Given the description of an element on the screen output the (x, y) to click on. 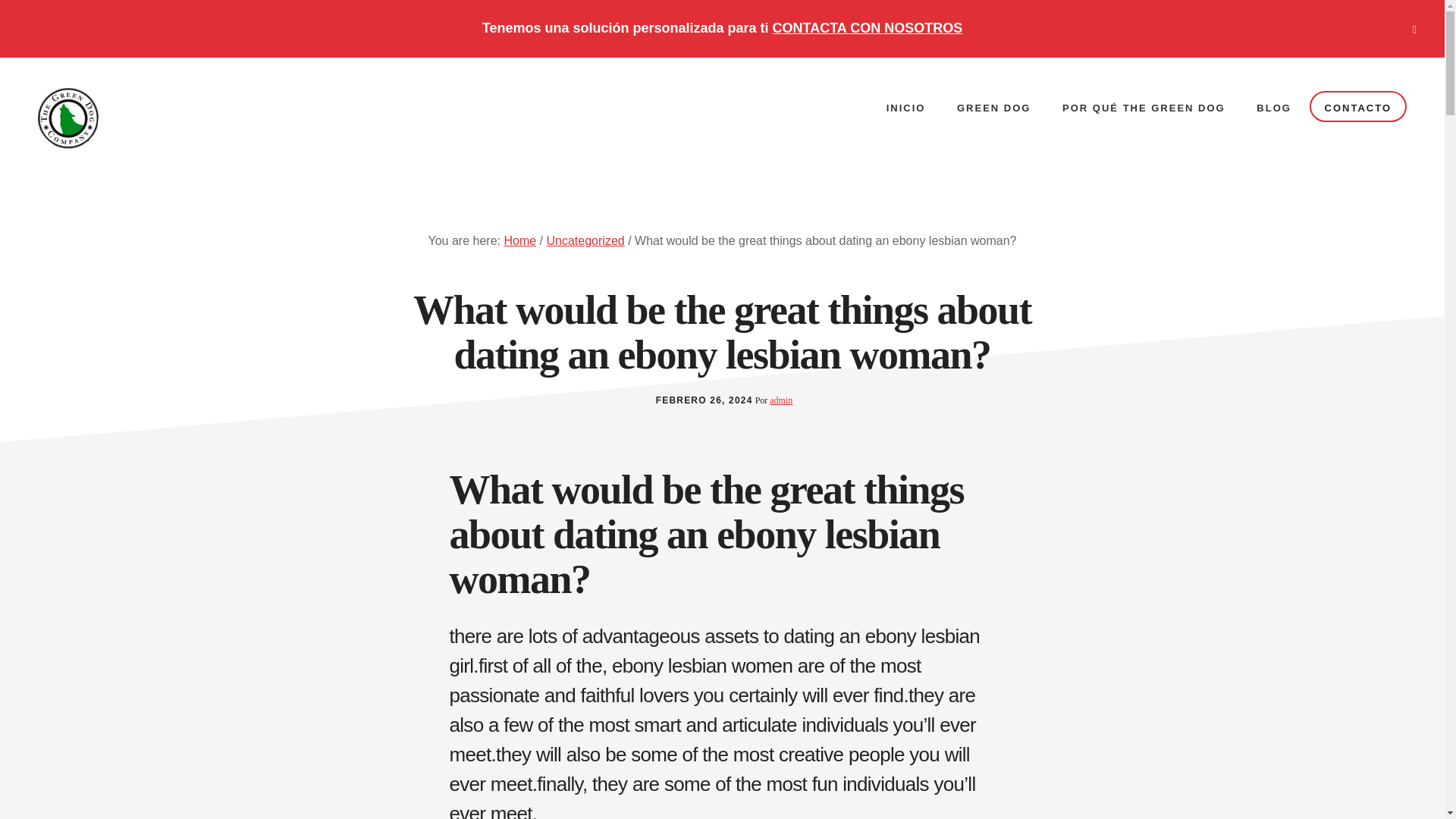
Home (519, 240)
GREEN DOG (993, 107)
CONTACTO (1357, 106)
FRANQUICIAS PARA MASCOTAS THE GREEN DOG (150, 117)
INICIO (905, 107)
BLOG (1273, 107)
Uncategorized (585, 240)
CONTACTA CON NOSOTROS (867, 28)
admin (781, 399)
